Given the description of an element on the screen output the (x, y) to click on. 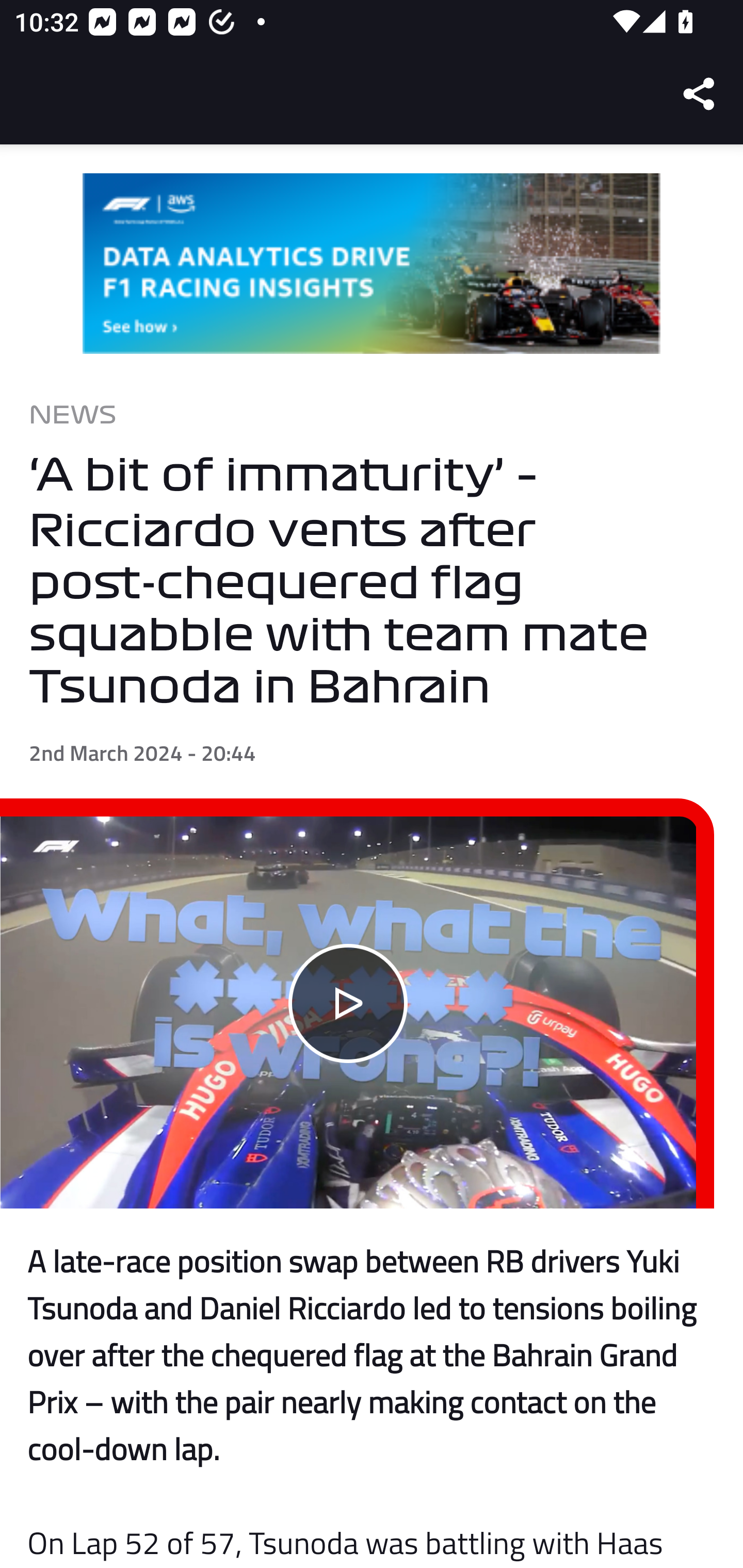
Share (699, 93)
